Given the description of an element on the screen output the (x, y) to click on. 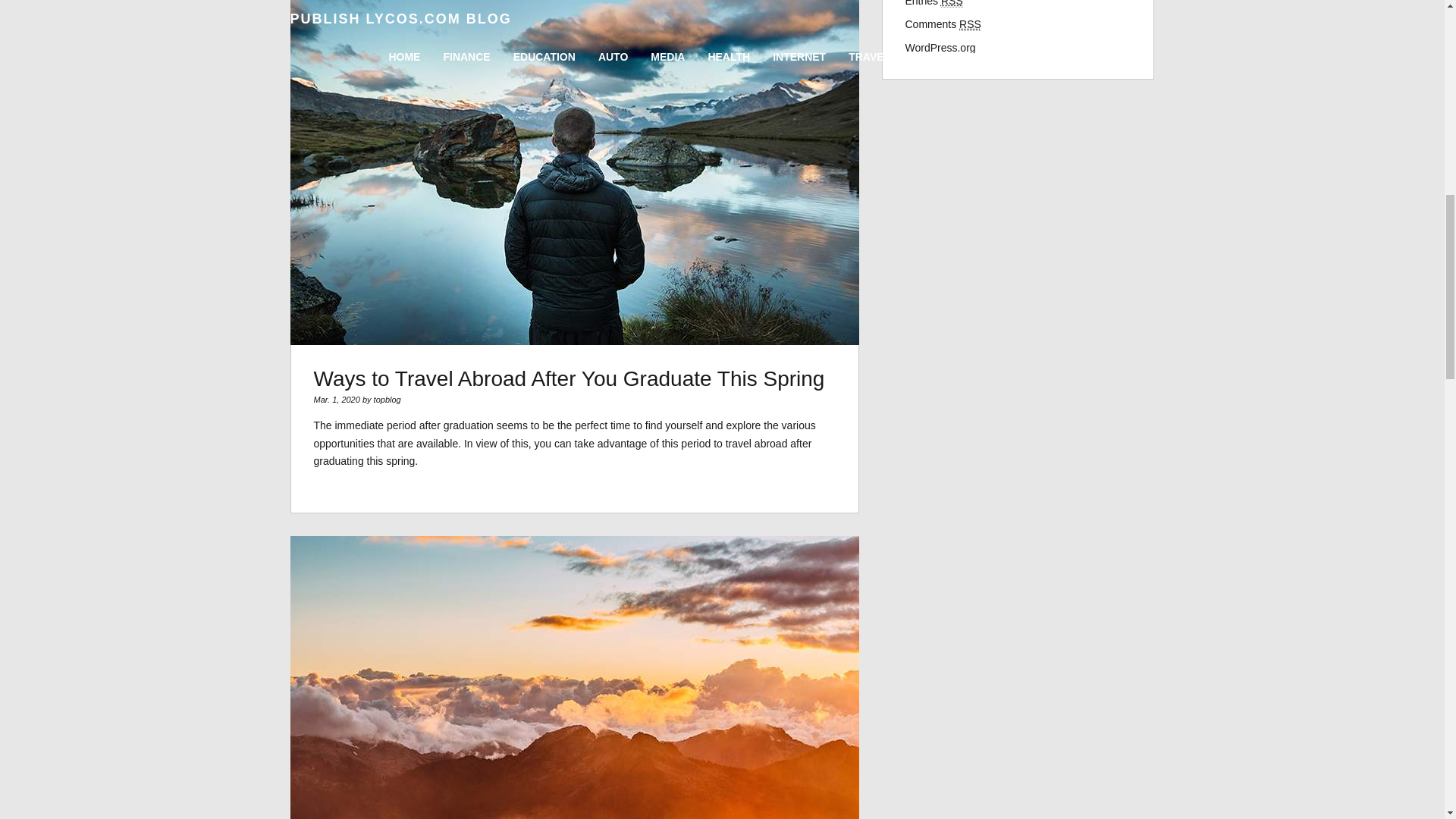
Posts by topblog (387, 399)
topblog (387, 399)
Ways to Travel Abroad After You Graduate This Spring (569, 378)
